Given the description of an element on the screen output the (x, y) to click on. 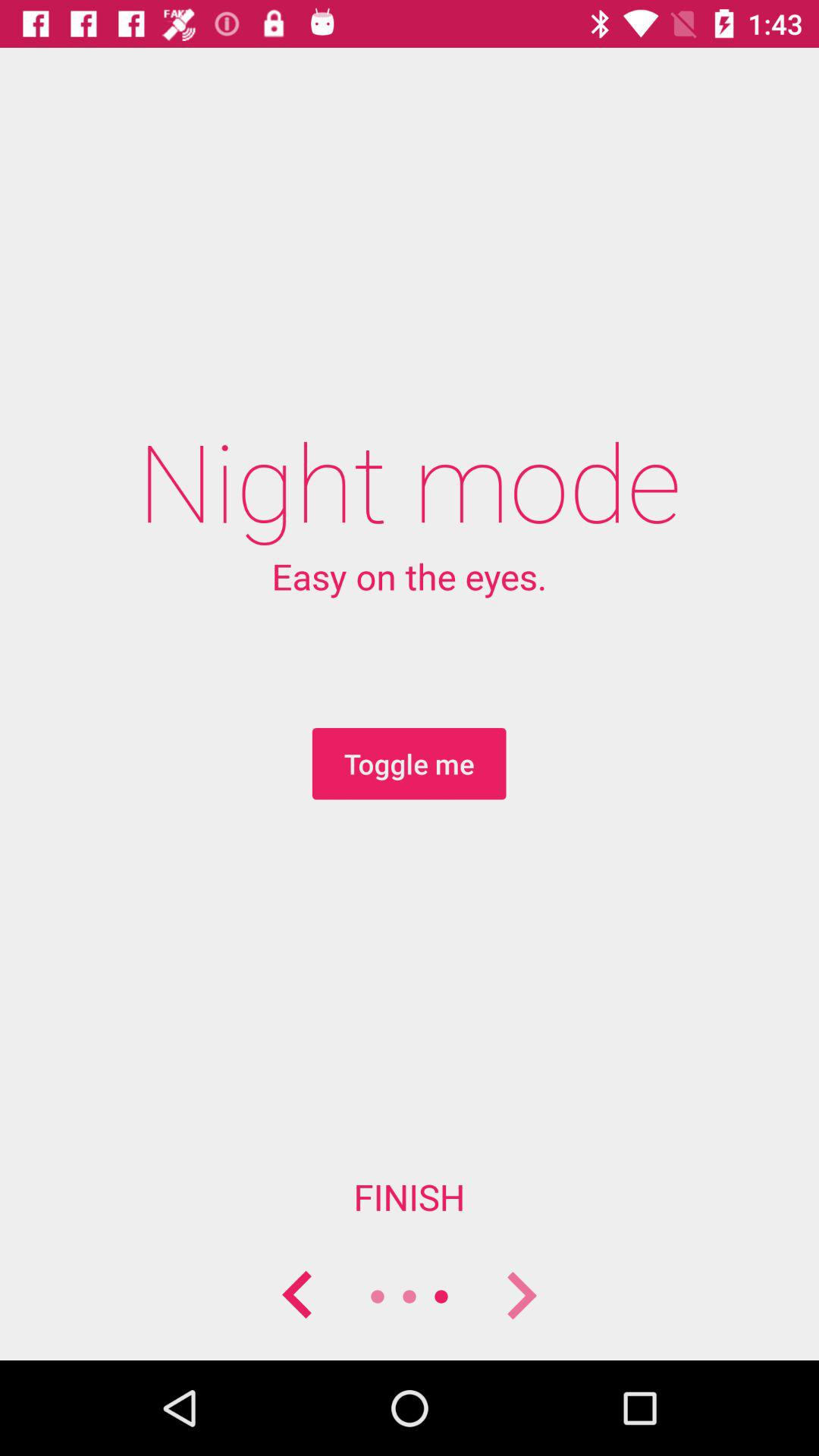
choose icon below the finish (520, 1296)
